Given the description of an element on the screen output the (x, y) to click on. 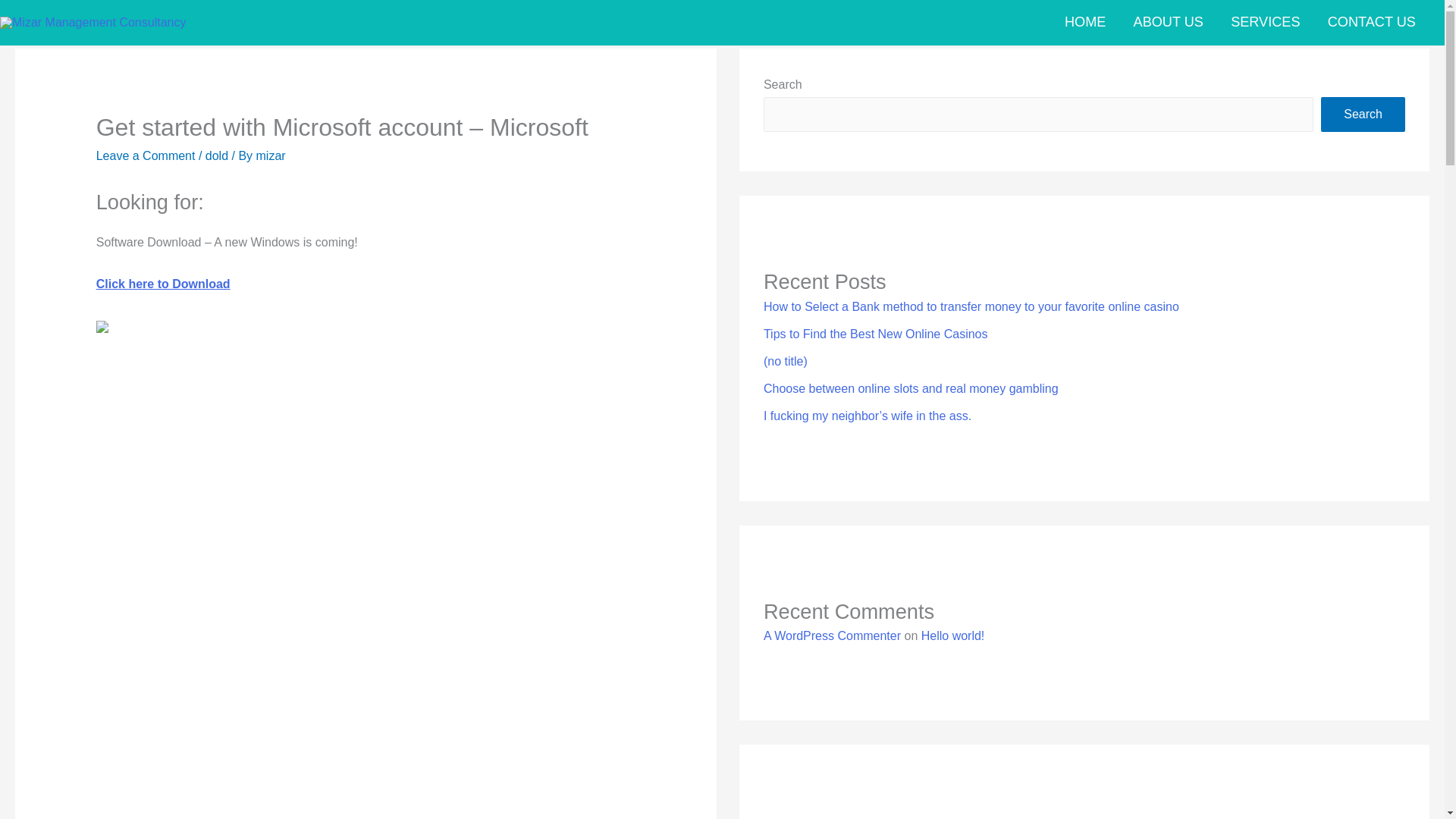
Leave a Comment (145, 155)
A WordPress Commenter (831, 635)
Search (1362, 114)
Tips to Find the Best New Online Casinos (875, 333)
mizar (270, 155)
Click here to Download (163, 283)
Choose between online slots and real money gambling (910, 388)
View all posts by mizar (270, 155)
dold (216, 155)
